Given the description of an element on the screen output the (x, y) to click on. 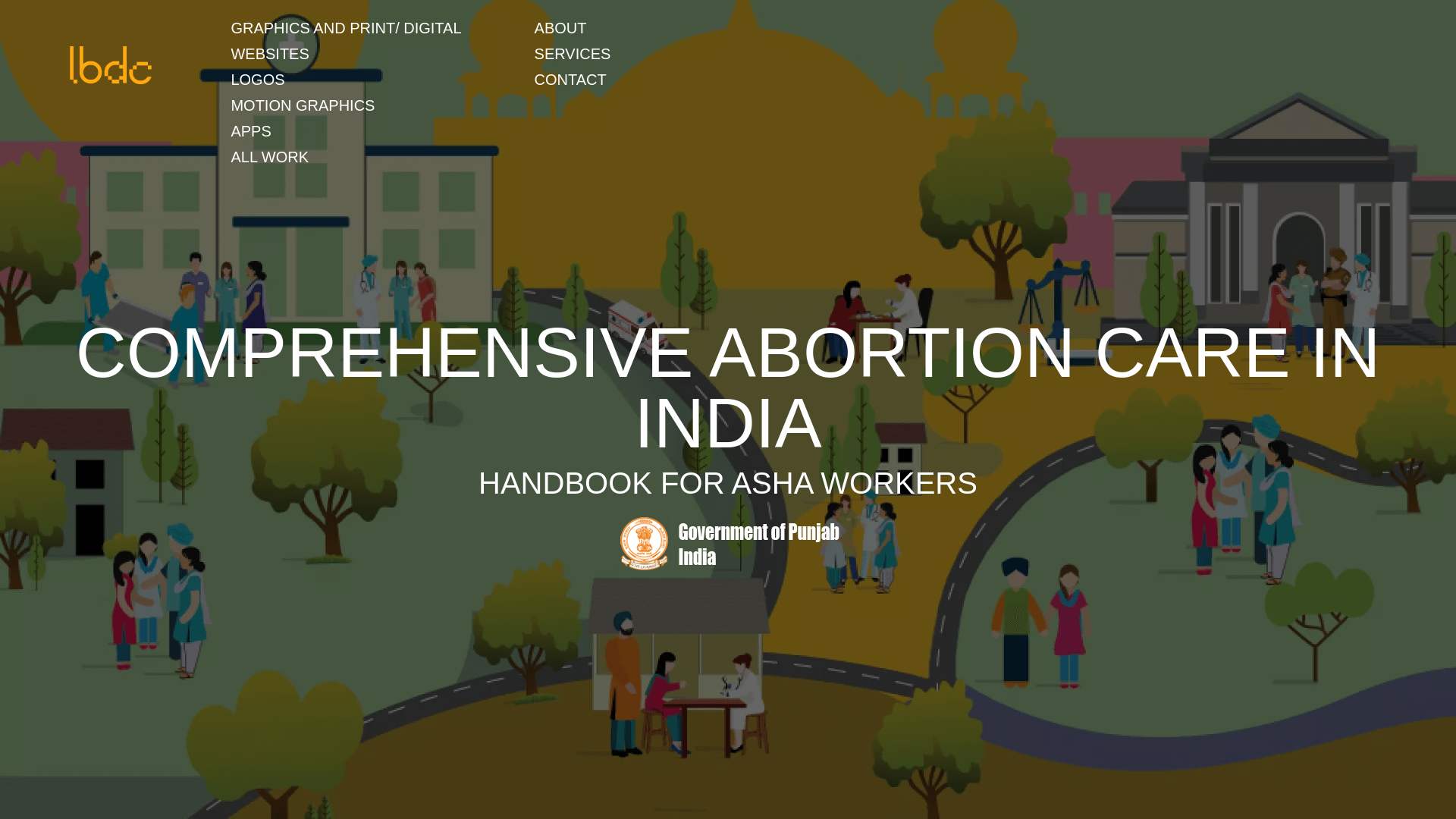
WEBSITES (269, 53)
ALL WORK (269, 157)
CONTACT (570, 79)
SERVICES (572, 53)
APPS (250, 130)
LOGOS (256, 79)
MOTION GRAPHICS (302, 105)
ABOUT (560, 27)
